Given the description of an element on the screen output the (x, y) to click on. 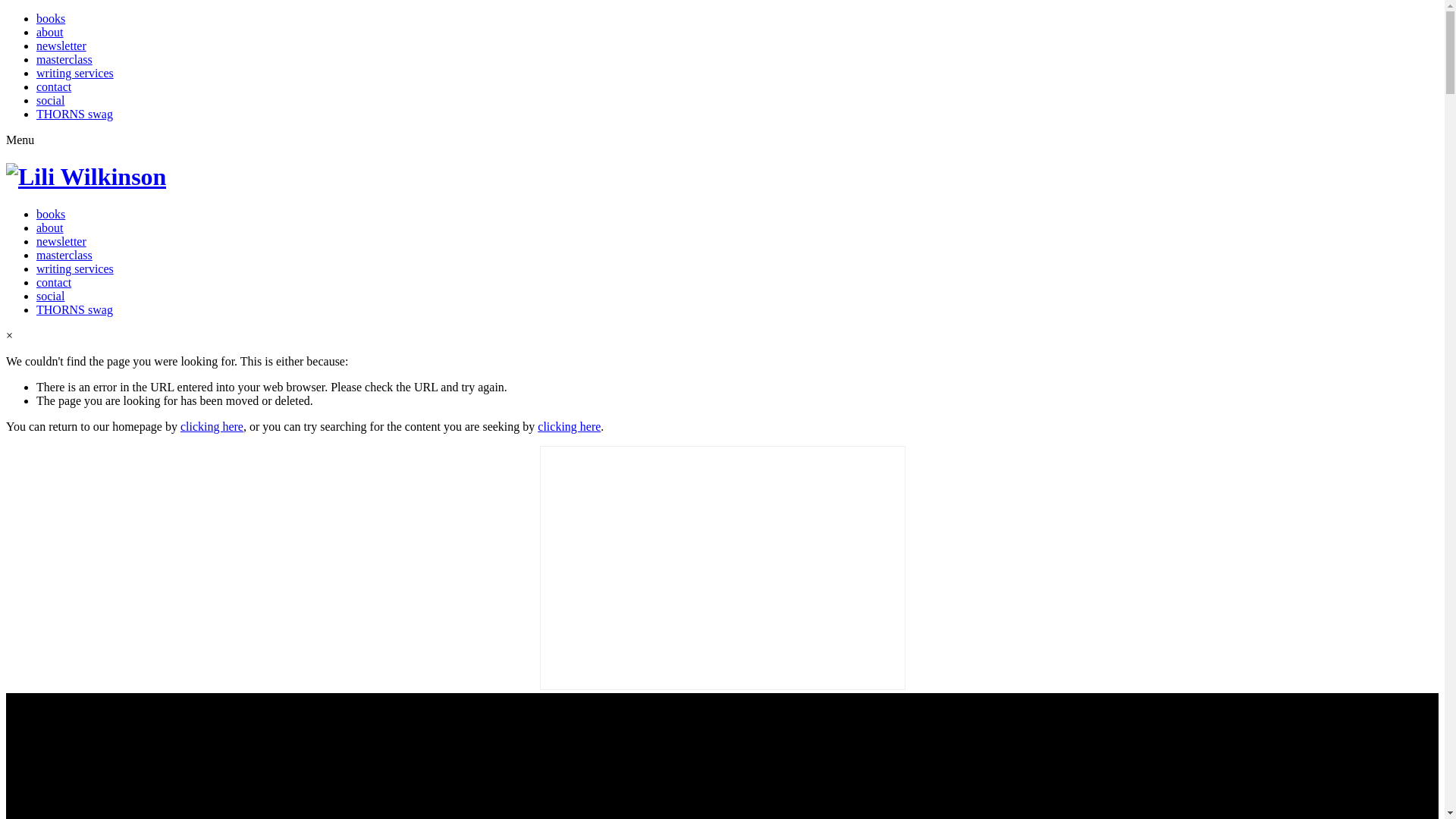
contact Element type: text (53, 86)
about Element type: text (49, 31)
books Element type: text (50, 18)
THORNS swag Element type: text (74, 113)
newsletter Element type: text (61, 45)
social Element type: text (50, 295)
social Element type: text (50, 100)
writing services Element type: text (74, 268)
clicking here Element type: text (568, 426)
contact Element type: text (53, 282)
clicking here Element type: text (211, 426)
masterclass Element type: text (64, 59)
books Element type: text (50, 213)
Menu Element type: text (20, 139)
THORNS swag Element type: text (74, 309)
about Element type: text (49, 227)
writing services Element type: text (74, 72)
newsletter Element type: text (61, 241)
masterclass Element type: text (64, 254)
